Given the description of an element on the screen output the (x, y) to click on. 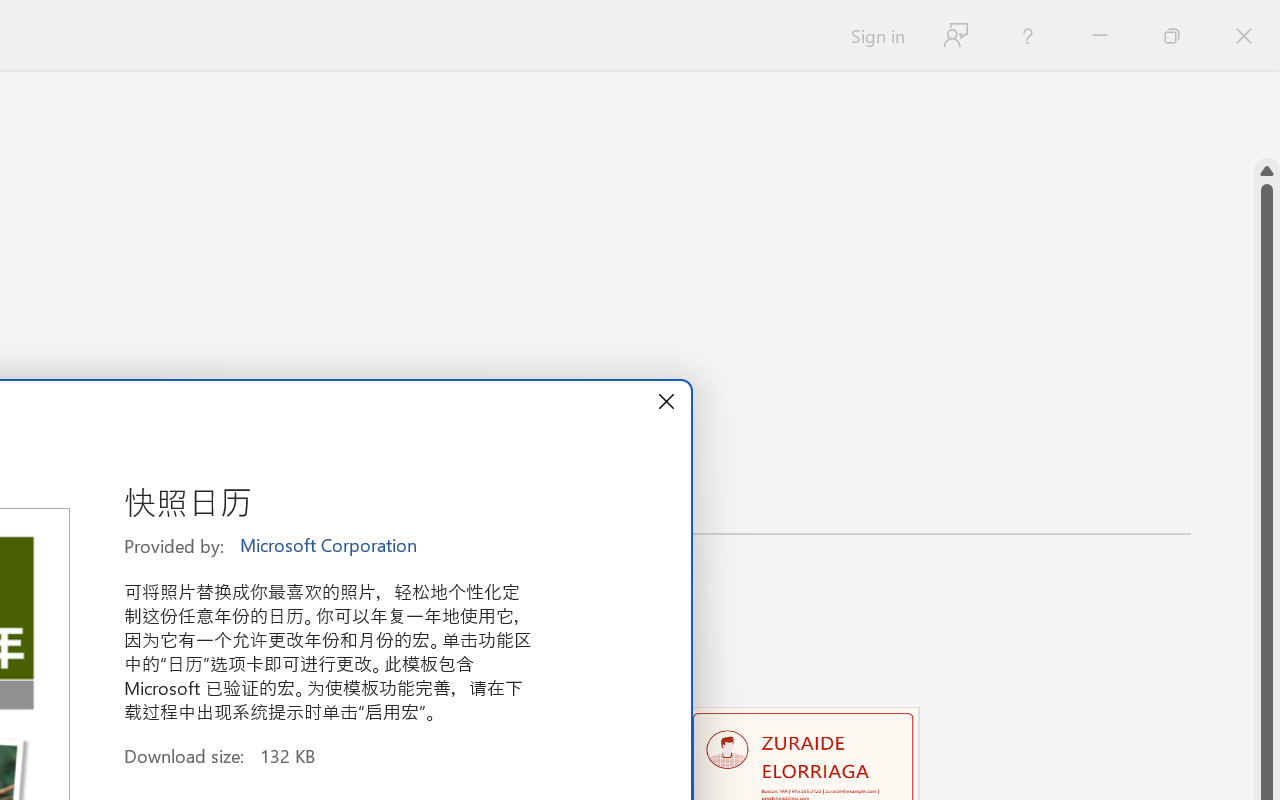
Microsoft Corporation (330, 546)
Line up (1267, 171)
